Given the description of an element on the screen output the (x, y) to click on. 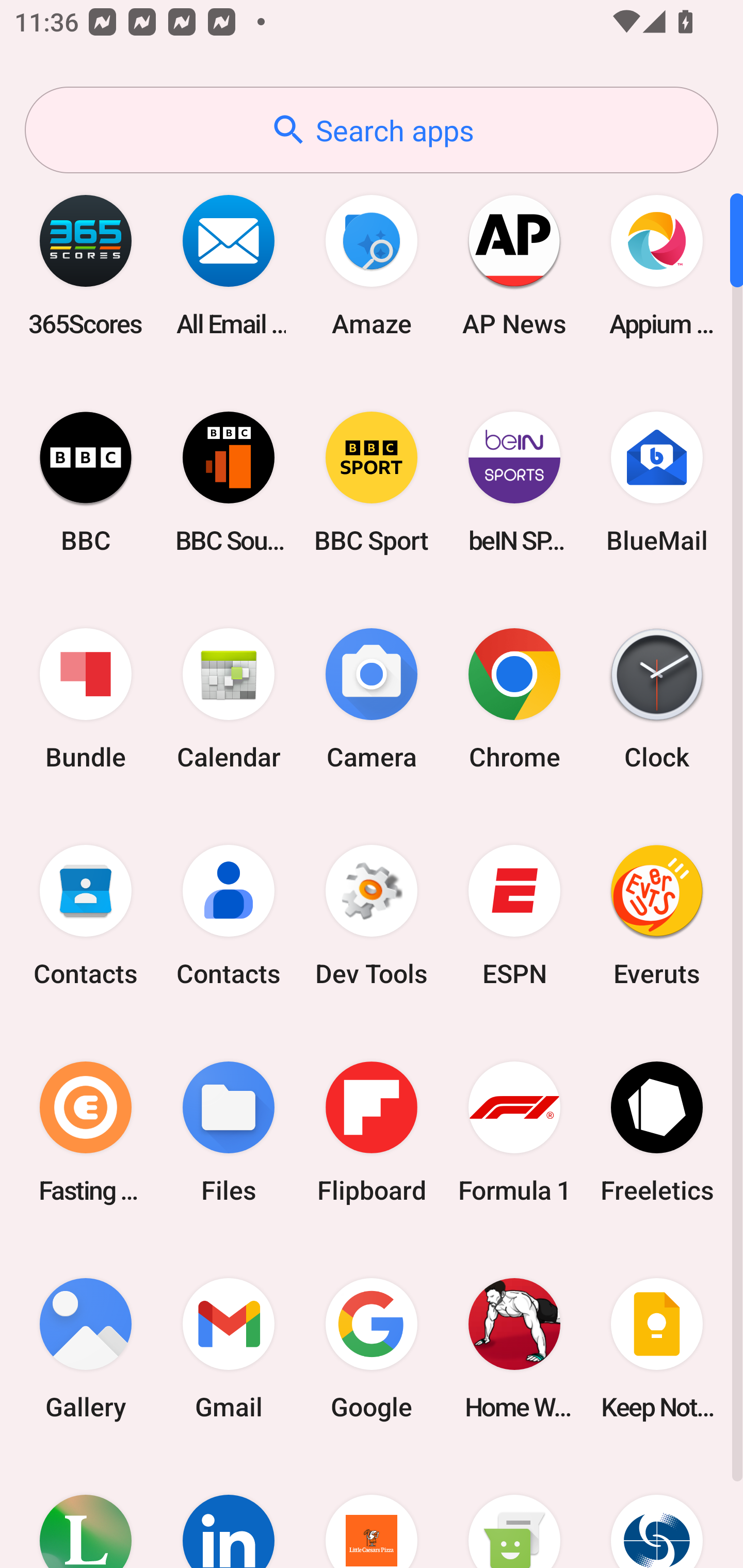
  Search apps (371, 130)
365Scores (85, 264)
All Email Connect (228, 264)
Amaze (371, 264)
AP News (514, 264)
Appium Settings (656, 264)
BBC (85, 482)
BBC Sounds (228, 482)
BBC Sport (371, 482)
beIN SPORTS (514, 482)
BlueMail (656, 482)
Bundle (85, 699)
Calendar (228, 699)
Camera (371, 699)
Chrome (514, 699)
Clock (656, 699)
Contacts (85, 915)
Contacts (228, 915)
Dev Tools (371, 915)
ESPN (514, 915)
Everuts (656, 915)
Fasting Coach (85, 1131)
Files (228, 1131)
Flipboard (371, 1131)
Formula 1 (514, 1131)
Freeletics (656, 1131)
Gallery (85, 1348)
Gmail (228, 1348)
Google (371, 1348)
Home Workout (514, 1348)
Keep Notes (656, 1348)
Lifesum (85, 1512)
LinkedIn (228, 1512)
Little Caesars Pizza (371, 1512)
Messaging (514, 1512)
MyObservatory (656, 1512)
